Given the description of an element on the screen output the (x, y) to click on. 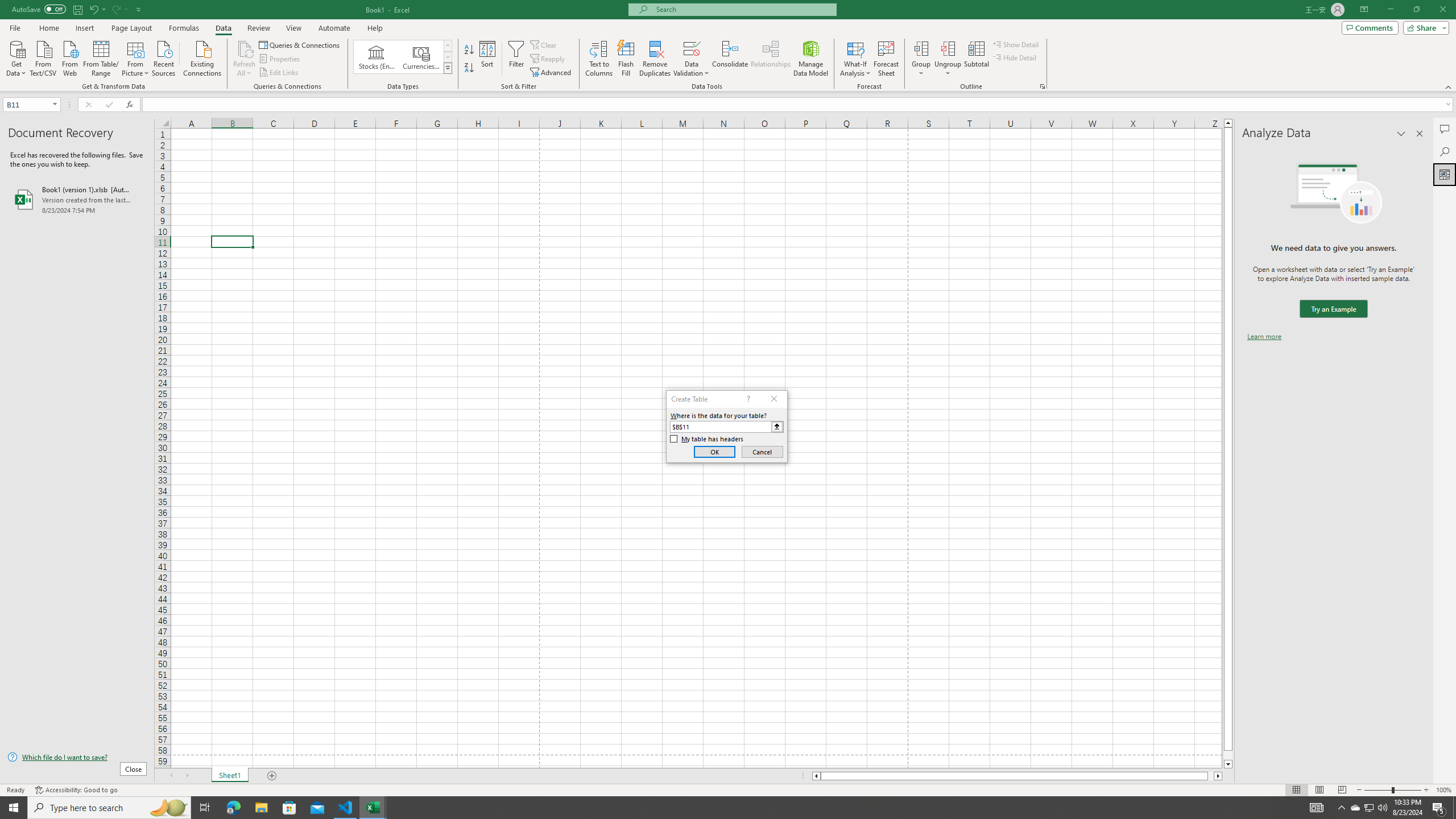
Formula Bar (799, 104)
Search (1444, 151)
Get Data (16, 57)
AutomationID: ConvertToLinkedEntity (403, 56)
Data Types (448, 67)
Row up (448, 45)
Currencies (English) (420, 56)
